Given the description of an element on the screen output the (x, y) to click on. 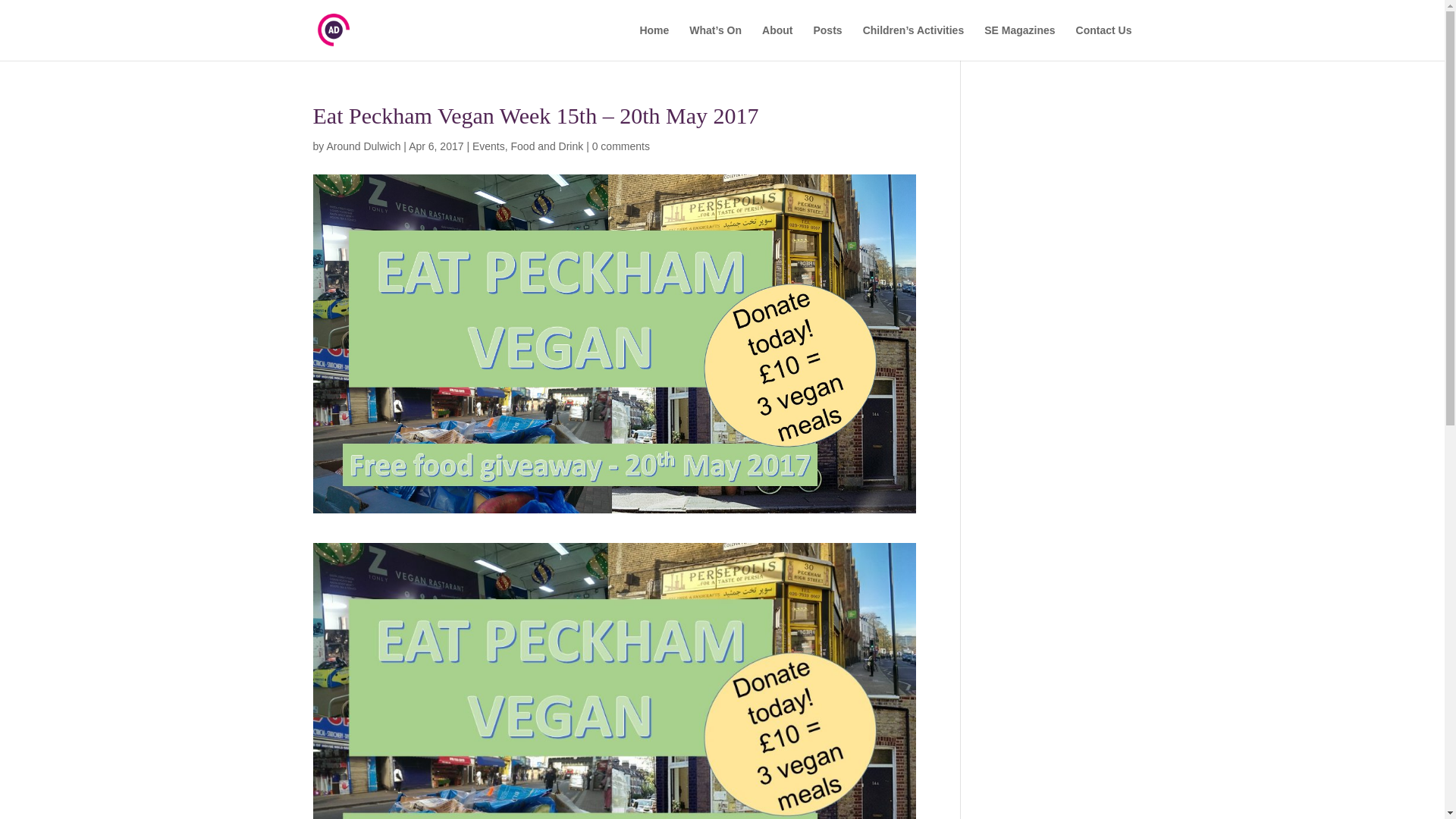
Around Dulwich (363, 146)
Events (488, 146)
Posts by Around Dulwich (363, 146)
Contact Us (1103, 42)
Food and Drink (547, 146)
SE Magazines (1019, 42)
0 comments (620, 146)
